Given the description of an element on the screen output the (x, y) to click on. 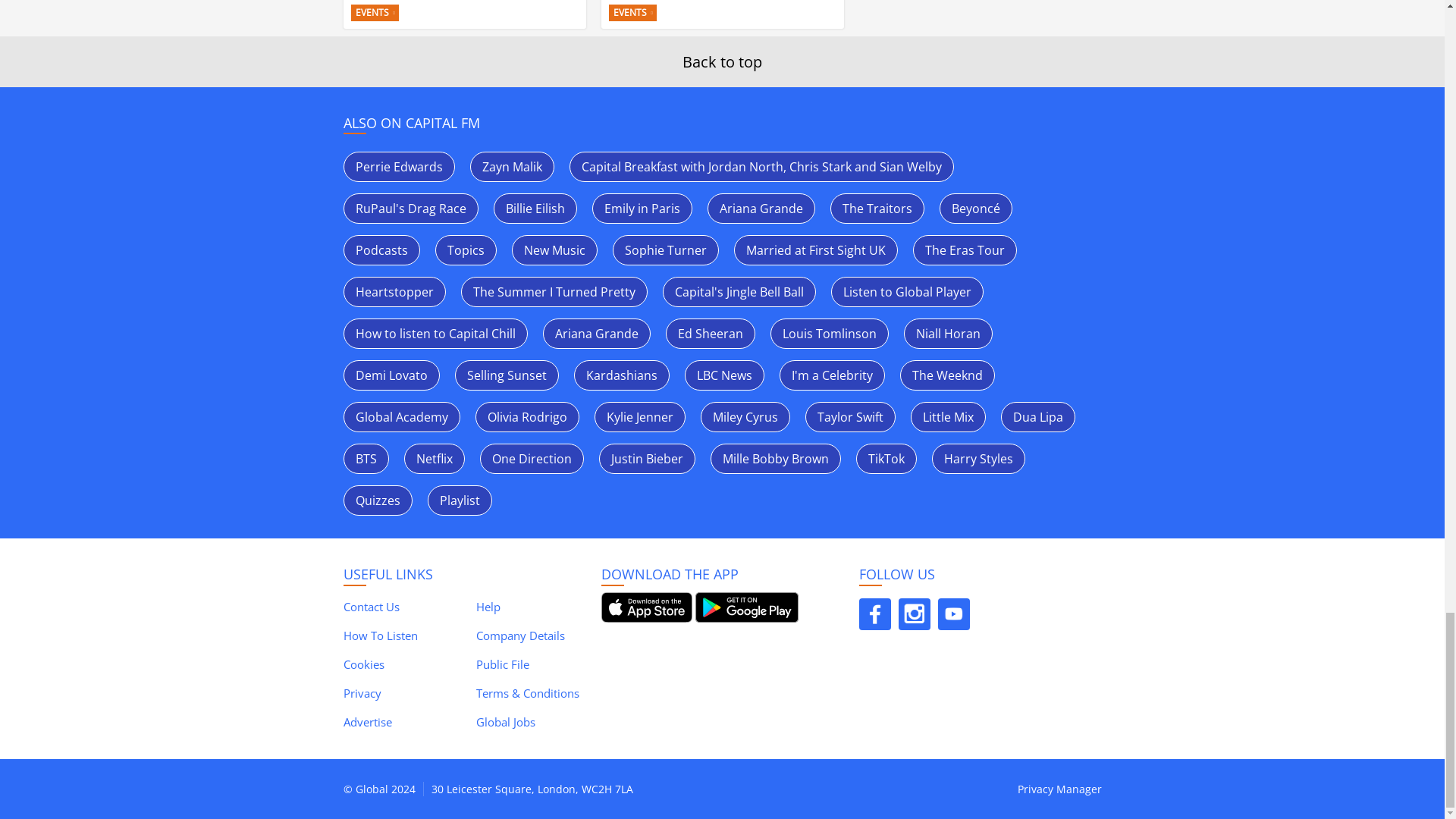
Back to top (721, 61)
Follow Capital on Facebook (874, 613)
Follow Capital on Instagram (914, 613)
Follow Capital on Youtube (953, 613)
